Given the description of an element on the screen output the (x, y) to click on. 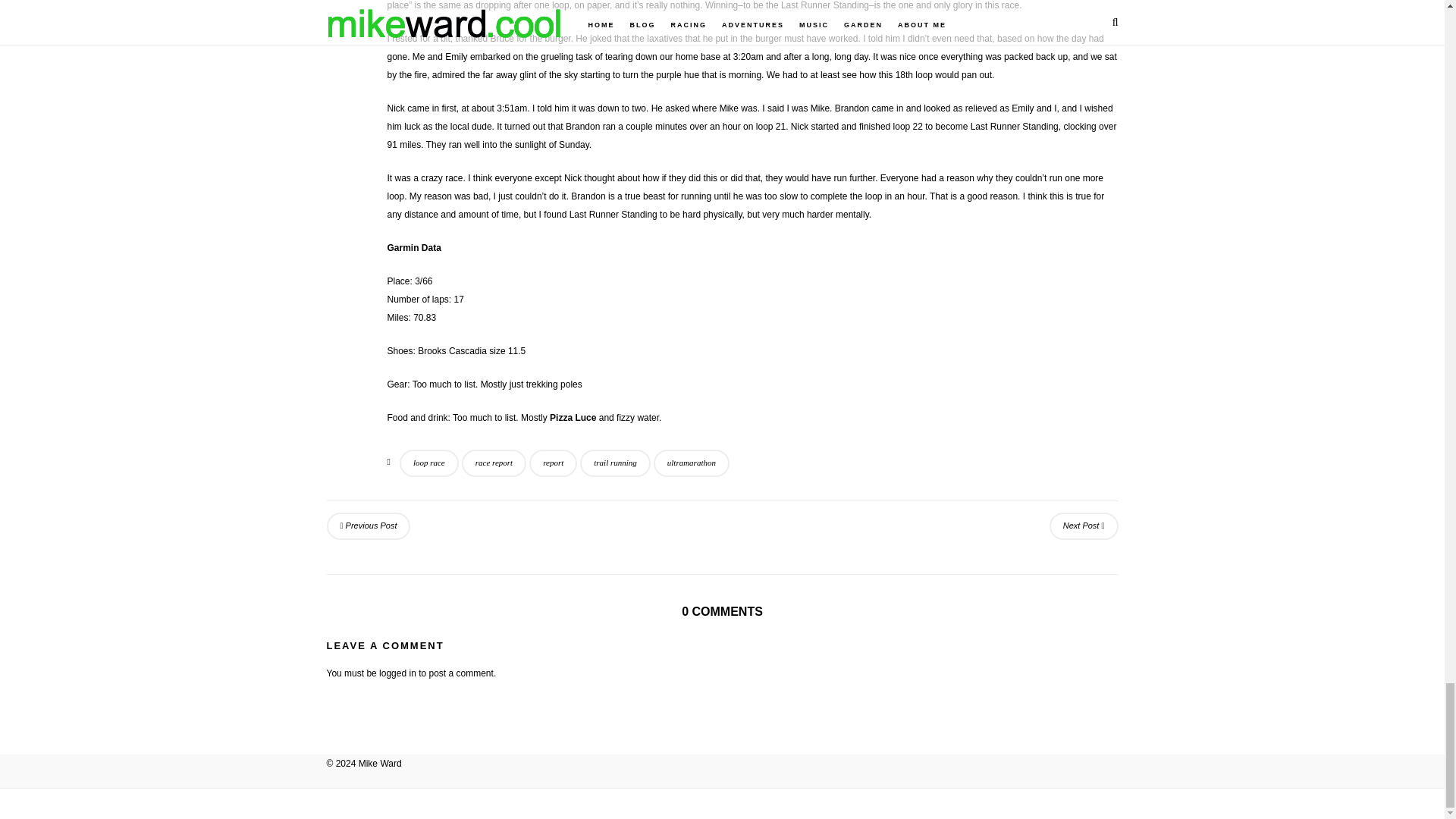
trail running (614, 462)
Next Post (1083, 525)
Previous Post (368, 525)
race report (493, 462)
Pizza Luce (572, 417)
Garmin Data (414, 247)
ultramarathon (691, 462)
New Strength Routine (368, 525)
logged in (397, 673)
report (552, 462)
